Given the description of an element on the screen output the (x, y) to click on. 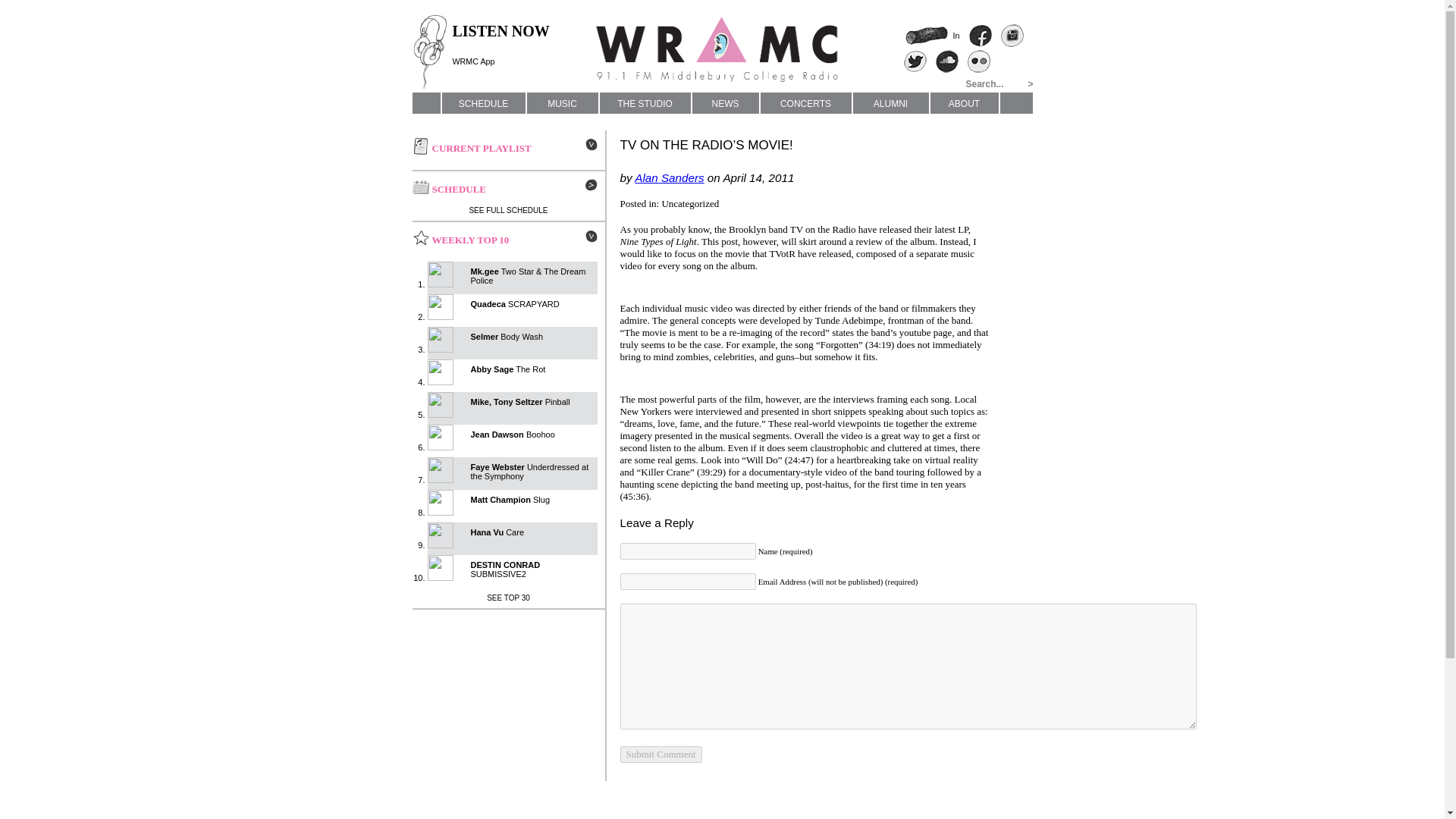
LISTEN NOW (499, 30)
ALUMNI (889, 103)
NEWS (724, 103)
Alan Sanders (668, 177)
SCHEDULE (482, 103)
MUSIC (931, 35)
Facebook (560, 103)
Submit Comment (980, 35)
Twitter (660, 754)
Soundcloud (915, 60)
CONCERTS (947, 60)
ABOUT (805, 103)
SEE TOP 30 (963, 103)
WRMC App (508, 597)
